Given the description of an element on the screen output the (x, y) to click on. 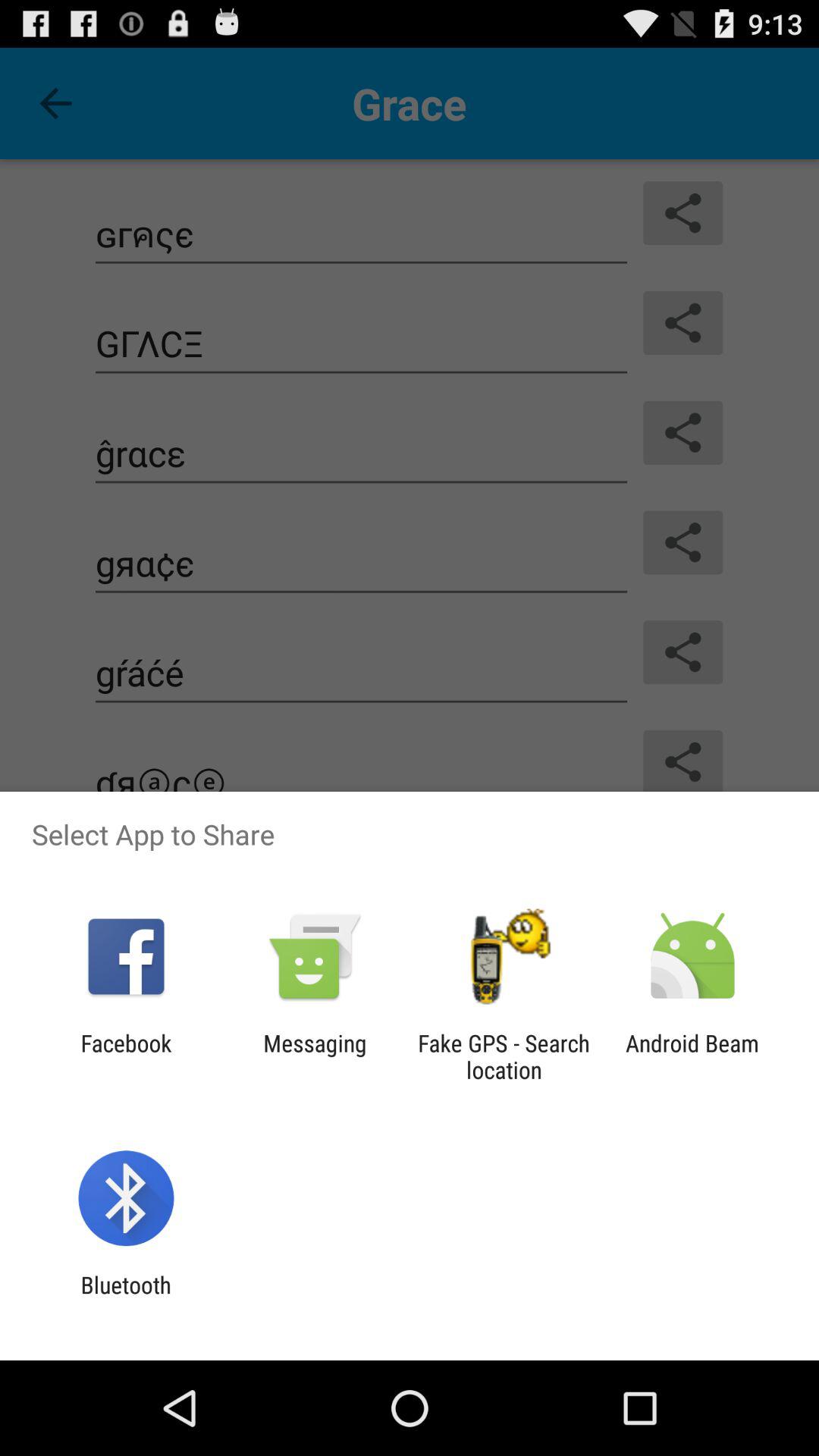
press item to the left of fake gps search (314, 1056)
